Given the description of an element on the screen output the (x, y) to click on. 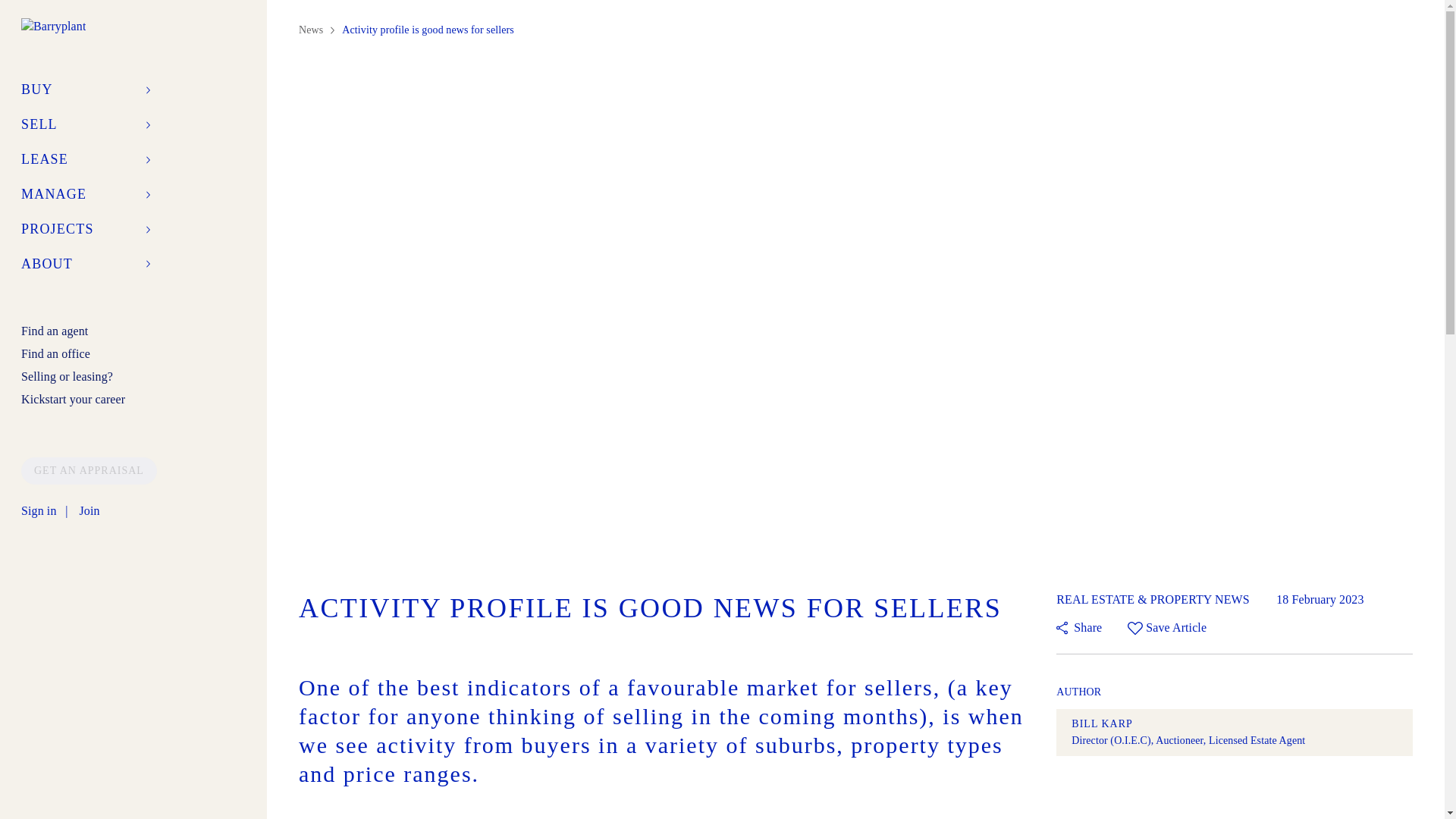
Join (88, 510)
Sign in (38, 510)
News (316, 29)
Selling or leasing? (67, 376)
Find an office (55, 353)
GET AN APPRAISAL (89, 469)
Kickstart your career (73, 399)
GET AN APPRAISAL (89, 470)
Find an agent (54, 330)
